Given the description of an element on the screen output the (x, y) to click on. 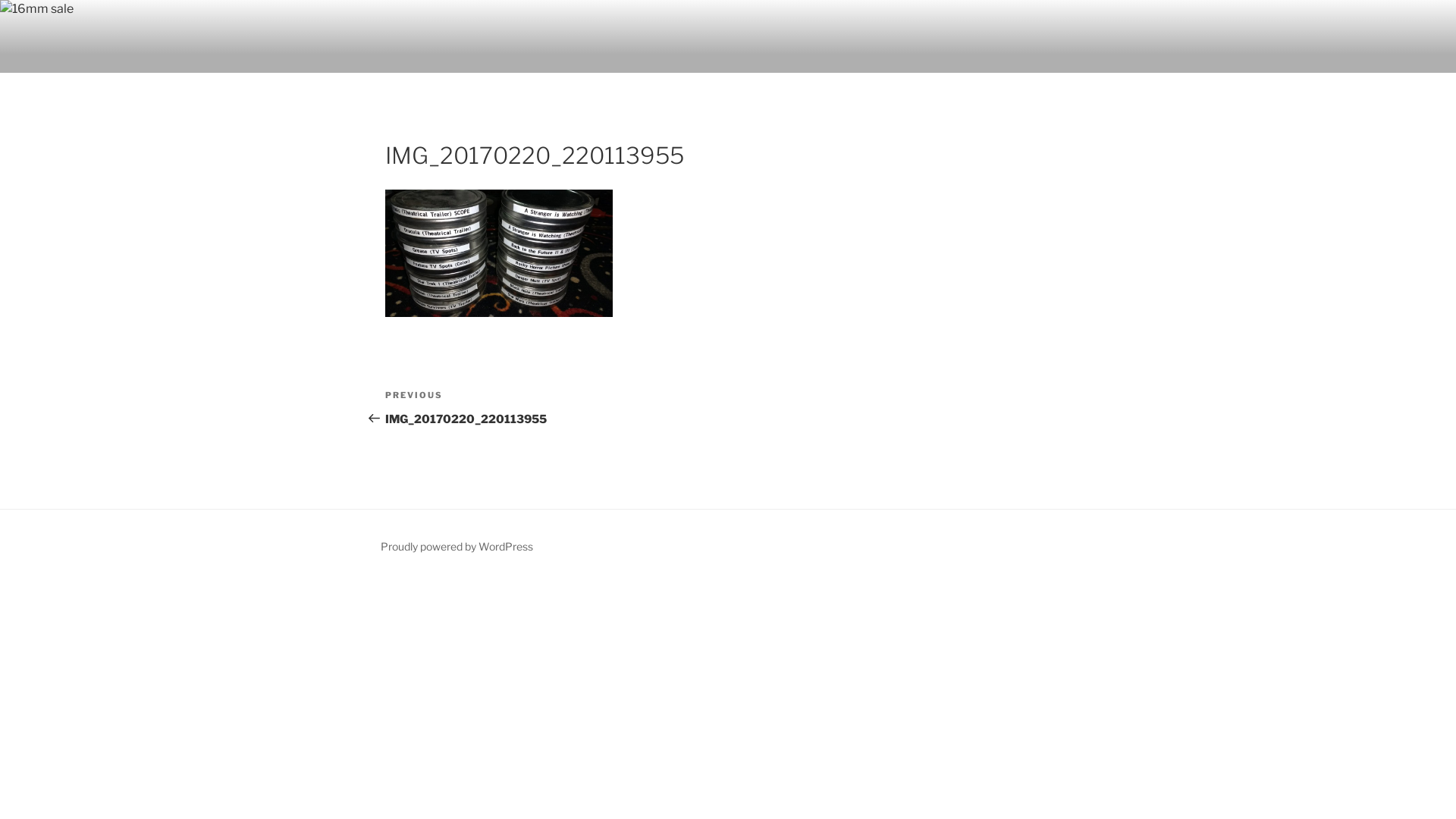
Proudly powered by WordPress Element type: text (456, 545)
Previous Post
PREVIOUS
IMG_20170220_220113955 Element type: text (556, 407)
Skip to content Element type: text (0, 0)
16MM SALE Element type: text (478, 52)
